Given the description of an element on the screen output the (x, y) to click on. 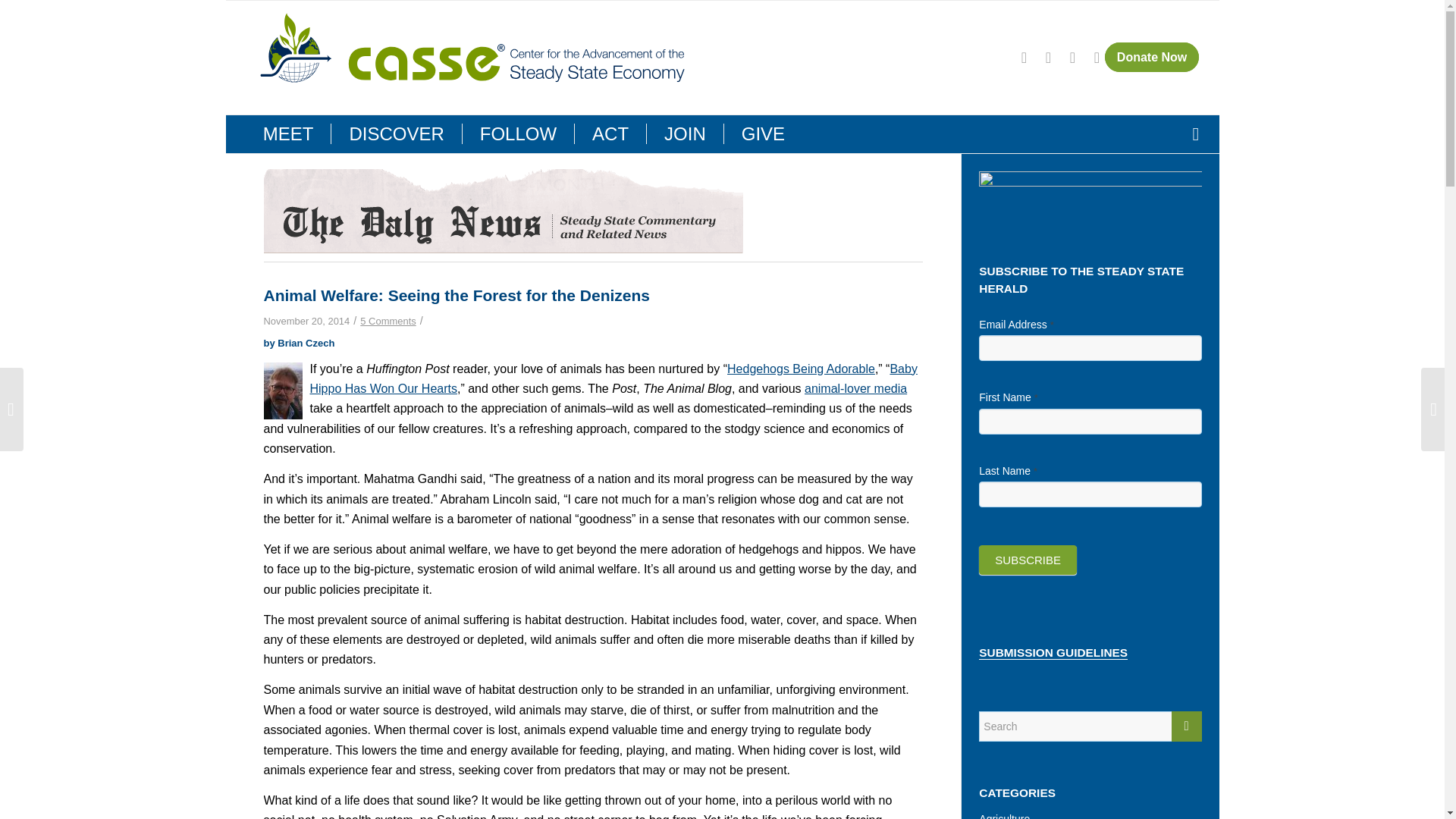
JOIN (684, 134)
MEET (288, 134)
DISCOVER (395, 134)
FOLLOW (517, 134)
ACT (609, 134)
GIVE (762, 134)
